Given the description of an element on the screen output the (x, y) to click on. 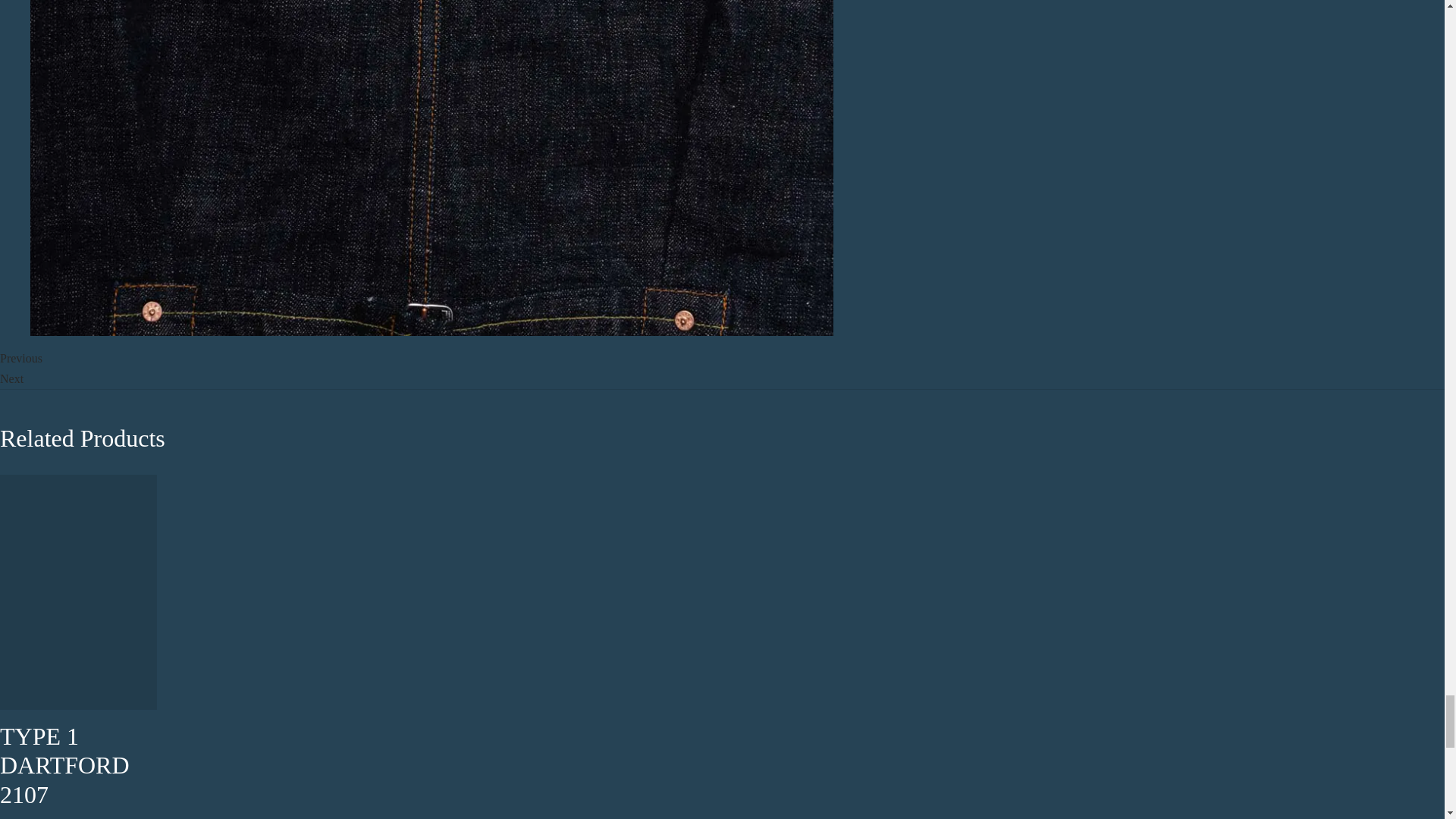
Previous (21, 358)
TYPE 1 DARTFORD 2107 (64, 765)
TYPE 1 DARTFORD 2107 (64, 765)
Next (11, 378)
TYPE 1 DARTFORD 2107 (78, 590)
